Given the description of an element on the screen output the (x, y) to click on. 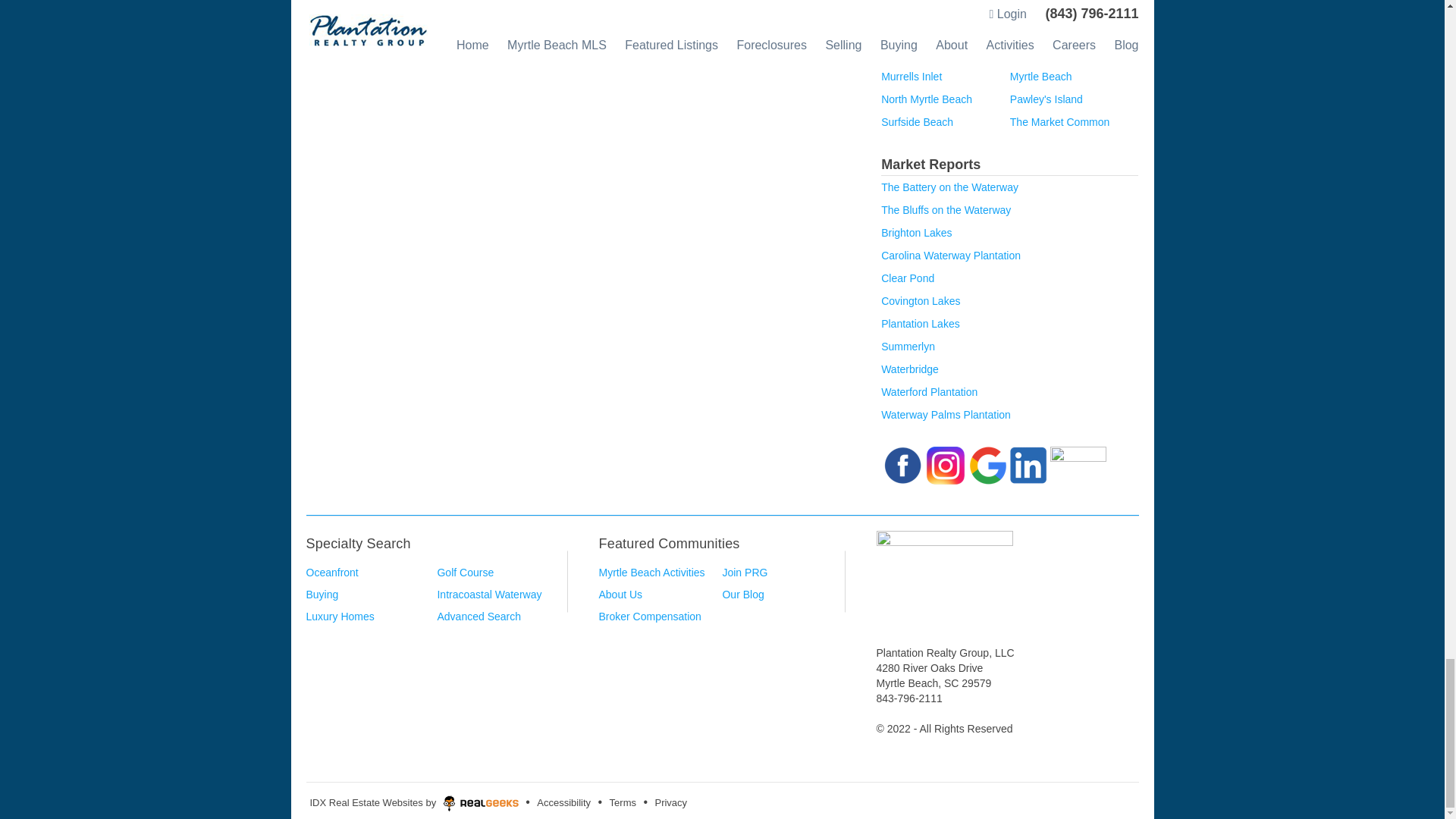
Plantation Realty Group Google (987, 463)
Plantation Realty Group Linkedin (1027, 463)
Plantation Realty Group Youtube (1077, 463)
Plantation Realty Group Instagram (945, 463)
Plantation Realty Group Facebook (902, 463)
